Given the description of an element on the screen output the (x, y) to click on. 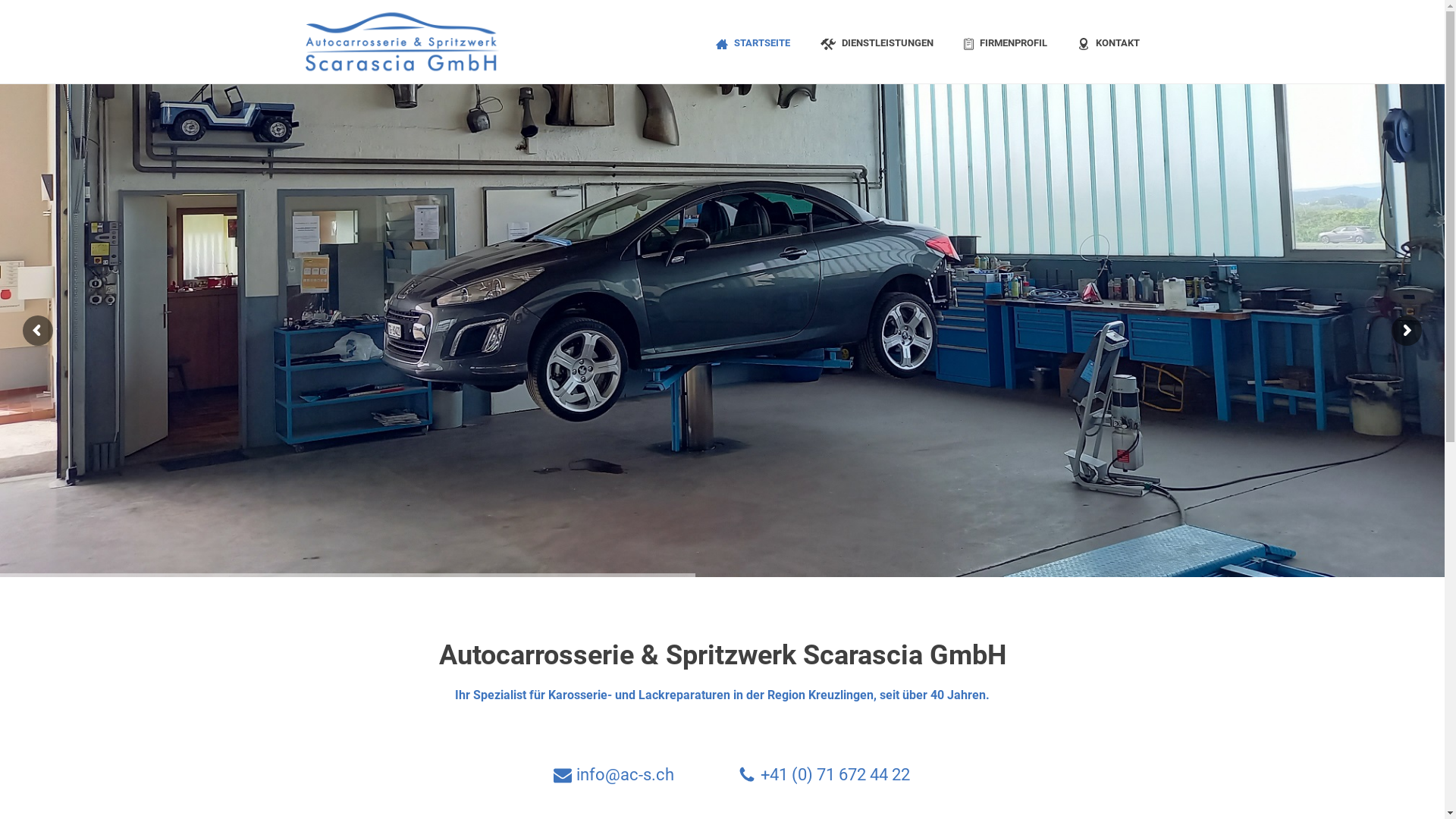
FIRMENPROFIL Element type: text (1004, 41)
KONTAKT Element type: text (1107, 41)
info@ac-s.ch Element type: text (625, 774)
DIENSTLEISTUNGEN Element type: text (876, 41)
STARTSEITE Element type: text (752, 41)
+41 (0) 71 672 44 22 Element type: text (835, 774)
